Given the description of an element on the screen output the (x, y) to click on. 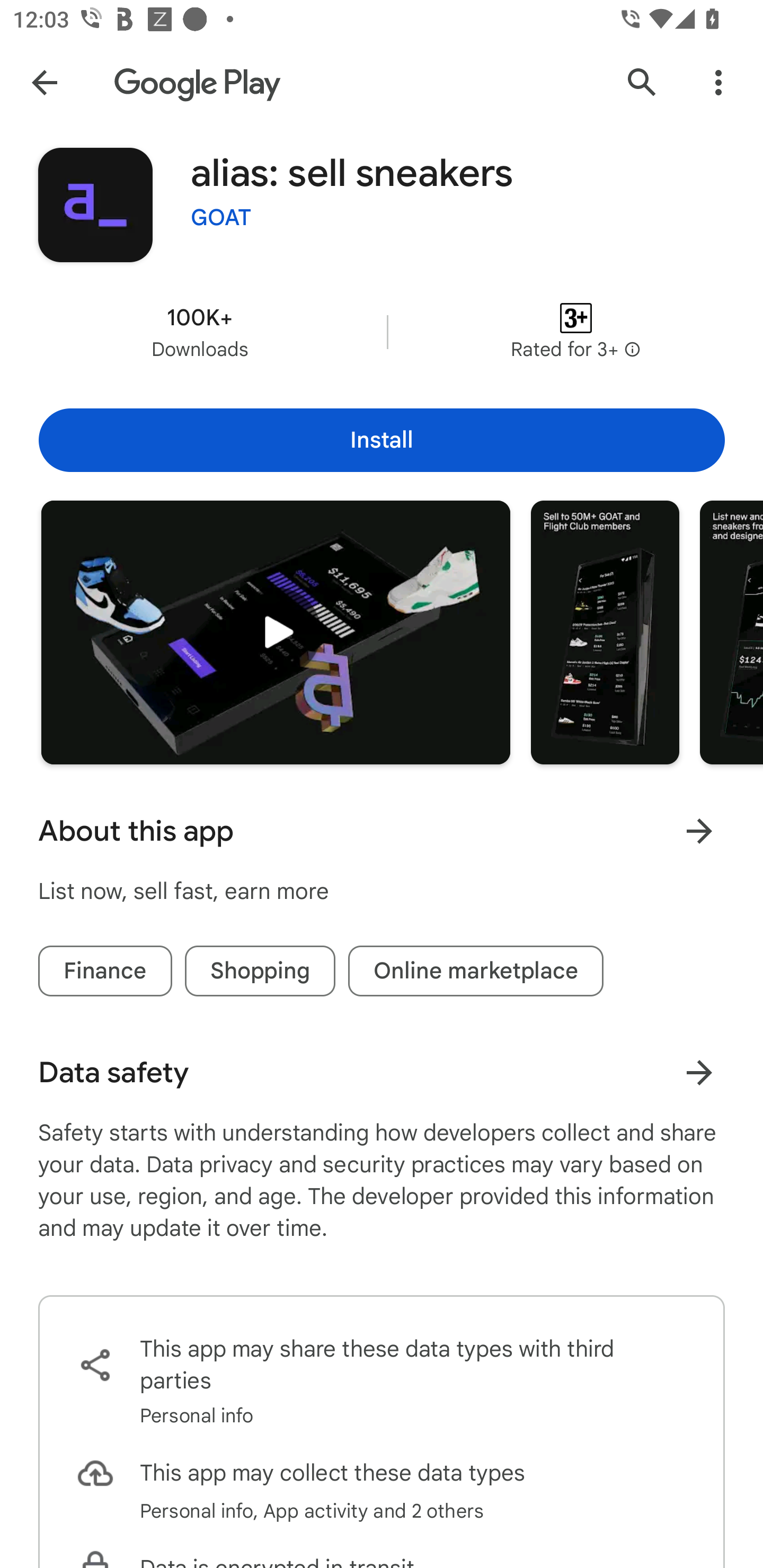
Navigate up (44, 81)
Search Google Play (642, 81)
More Options (718, 81)
GOAT (221, 217)
Content rating Rated for 3+ (575, 331)
Install (381, 439)
Play trailer for "alias: sell sneakers" (275, 632)
Screenshot "1" of "4" (605, 632)
About this app Learn more About this app (381, 830)
Learn more About this app (699, 830)
Finance tag (105, 970)
Shopping tag (259, 970)
Online marketplace tag (475, 970)
Data safety Learn more about data safety (381, 1072)
Learn more about data safety (699, 1072)
